Given the description of an element on the screen output the (x, y) to click on. 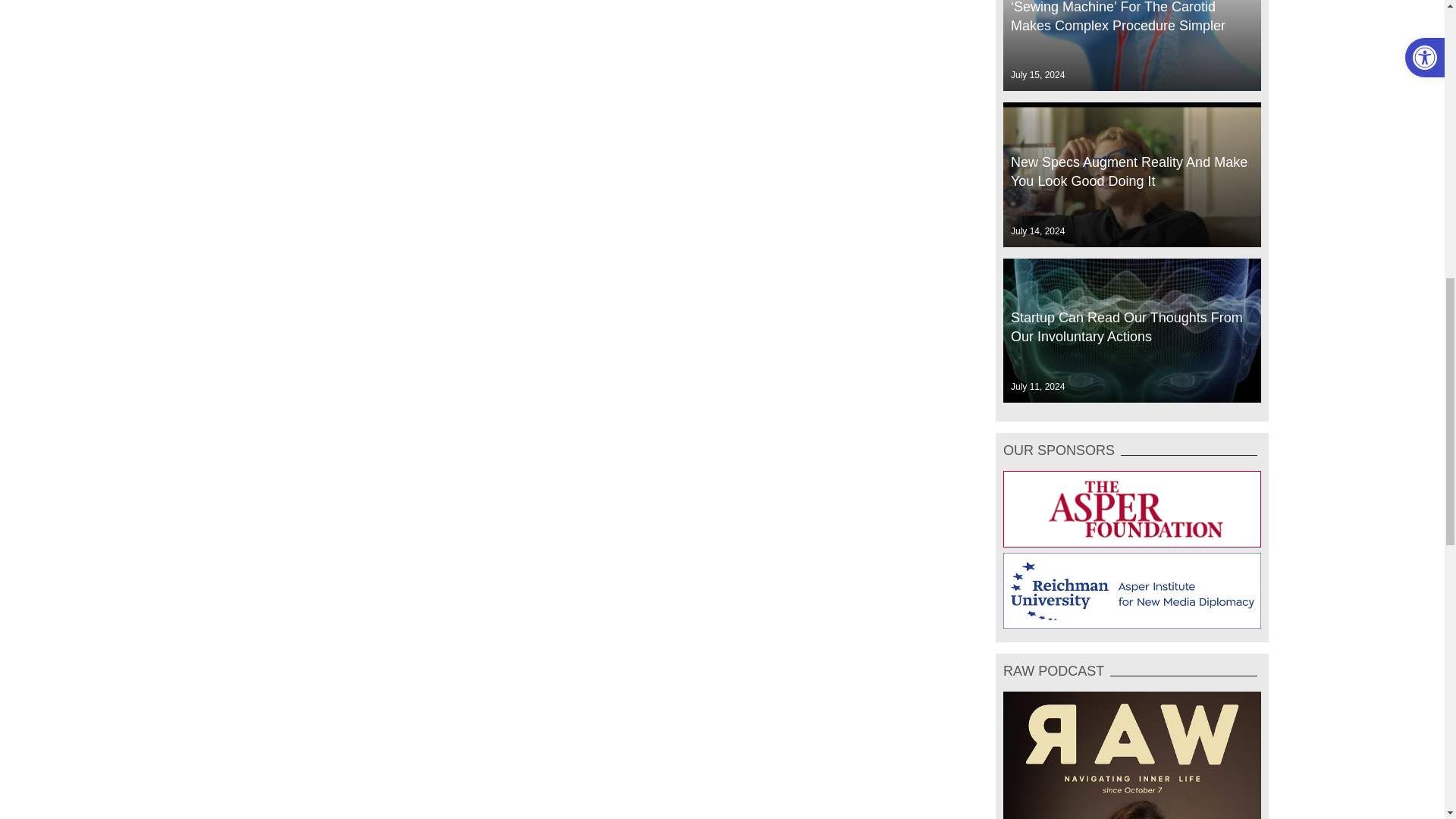
New Specs Augment Reality And Make You Look Good Doing It (1131, 174)
Startup Can Read Our Thoughts From Our Involuntary Actions (1131, 330)
